Given the description of an element on the screen output the (x, y) to click on. 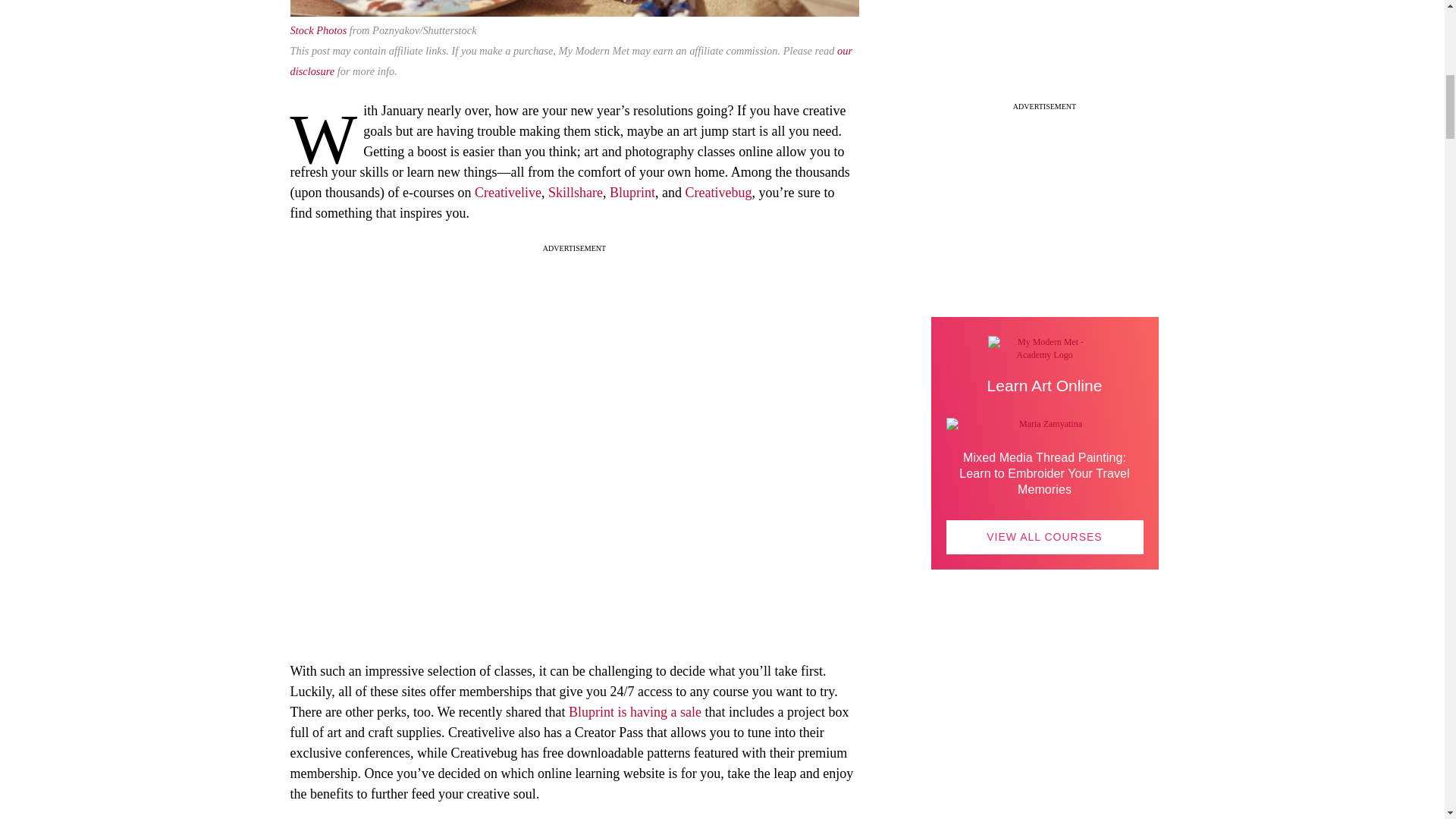
Visit Our Store (1044, 736)
